Given the description of an element on the screen output the (x, y) to click on. 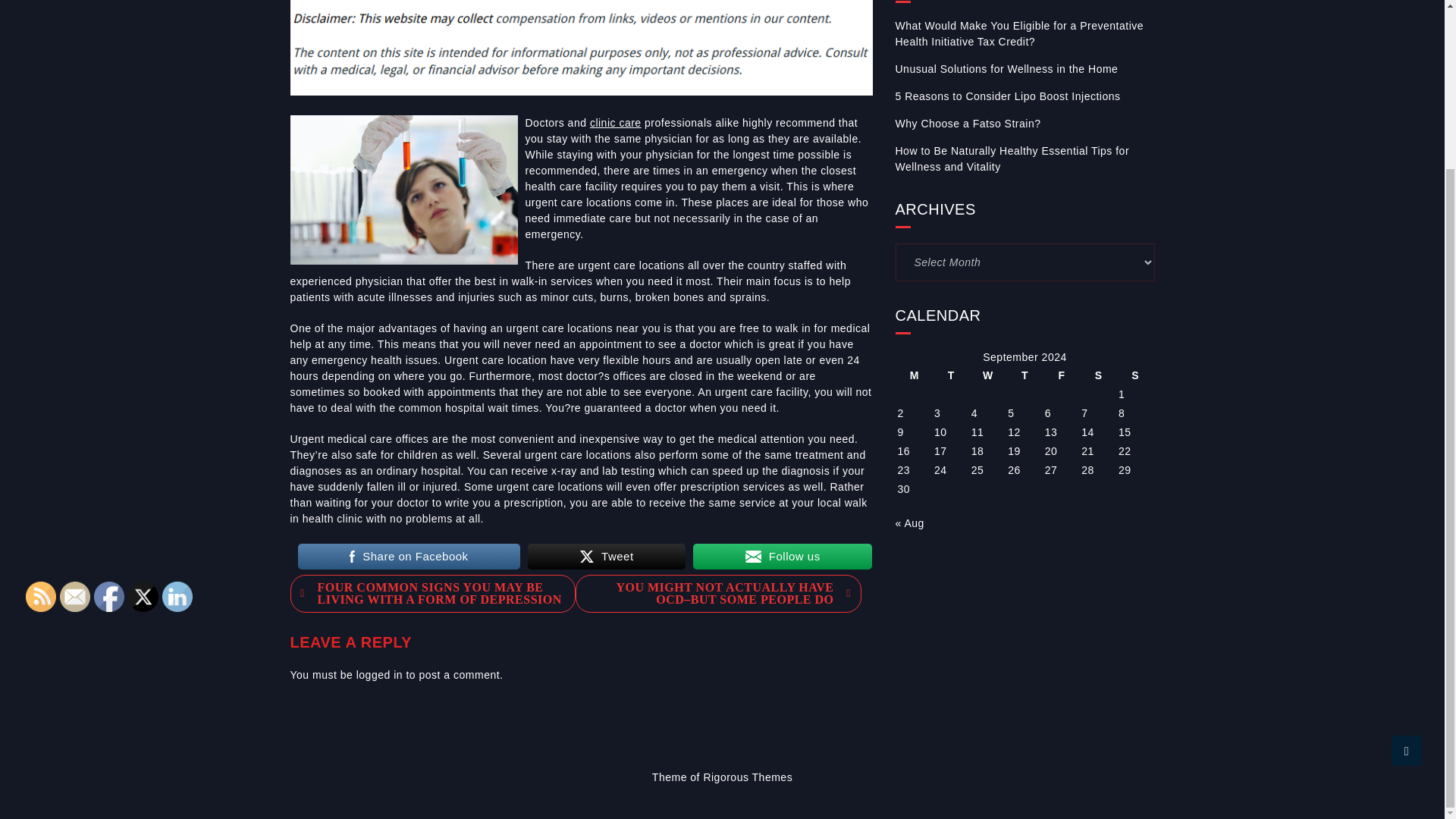
Follow by Email (74, 596)
Wednesday (988, 375)
Thursday (1024, 375)
Facebook (108, 596)
Saturday (1098, 375)
Rigorous Themes (747, 776)
Tuesday (951, 375)
Tweet (606, 556)
Go to Top (1406, 548)
logged in (379, 674)
